Given the description of an element on the screen output the (x, y) to click on. 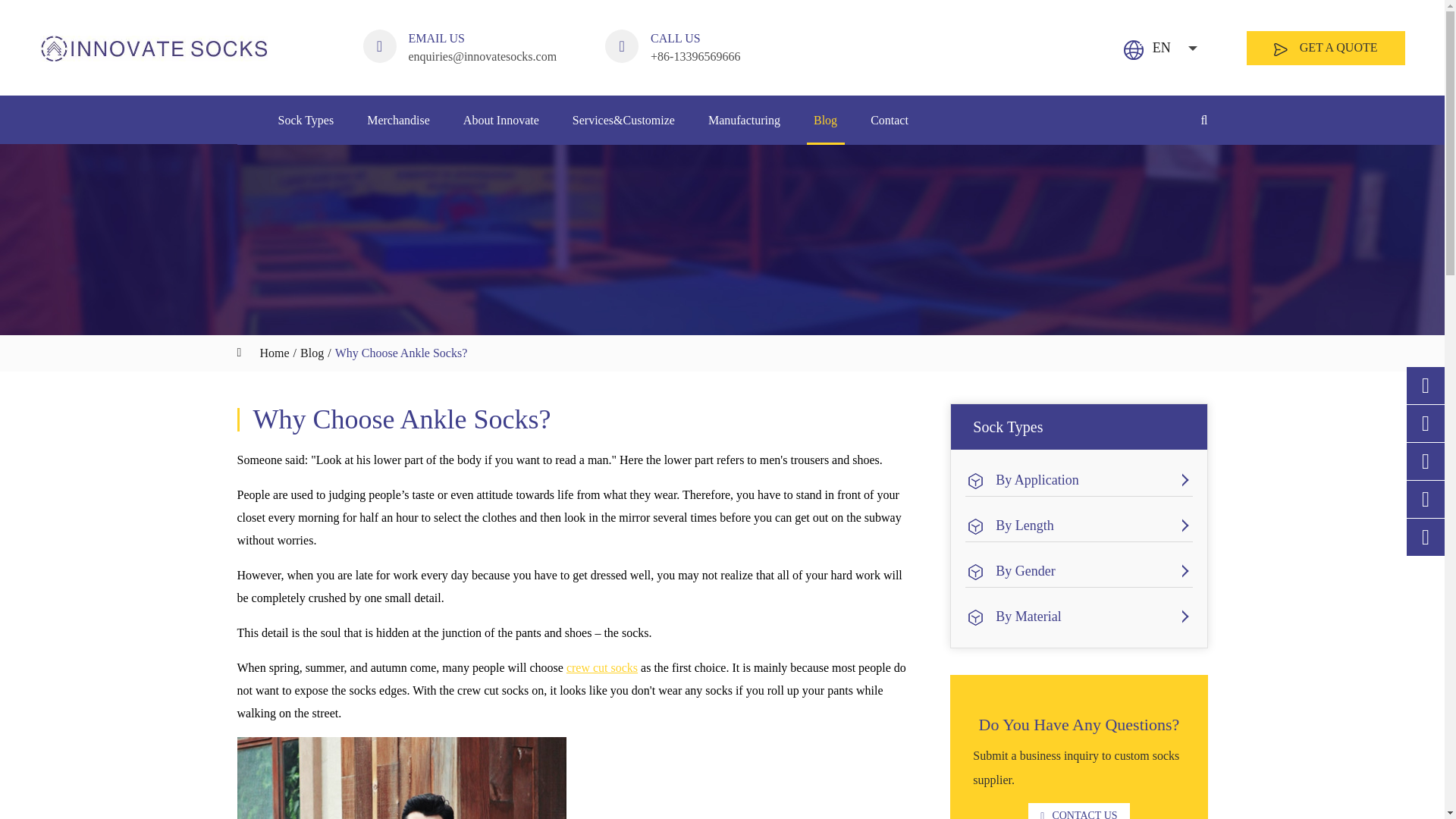
EN (1166, 47)
Why Choose Ankle Socks? (400, 352)
country (1133, 49)
Zhuji Innovate Knitting Co., Ltd. (152, 48)
Blog (311, 352)
Get A Quote (1303, 65)
Sock Types (305, 120)
Get A Quote (1280, 49)
GET A QUOTE (1325, 48)
